Given the description of an element on the screen output the (x, y) to click on. 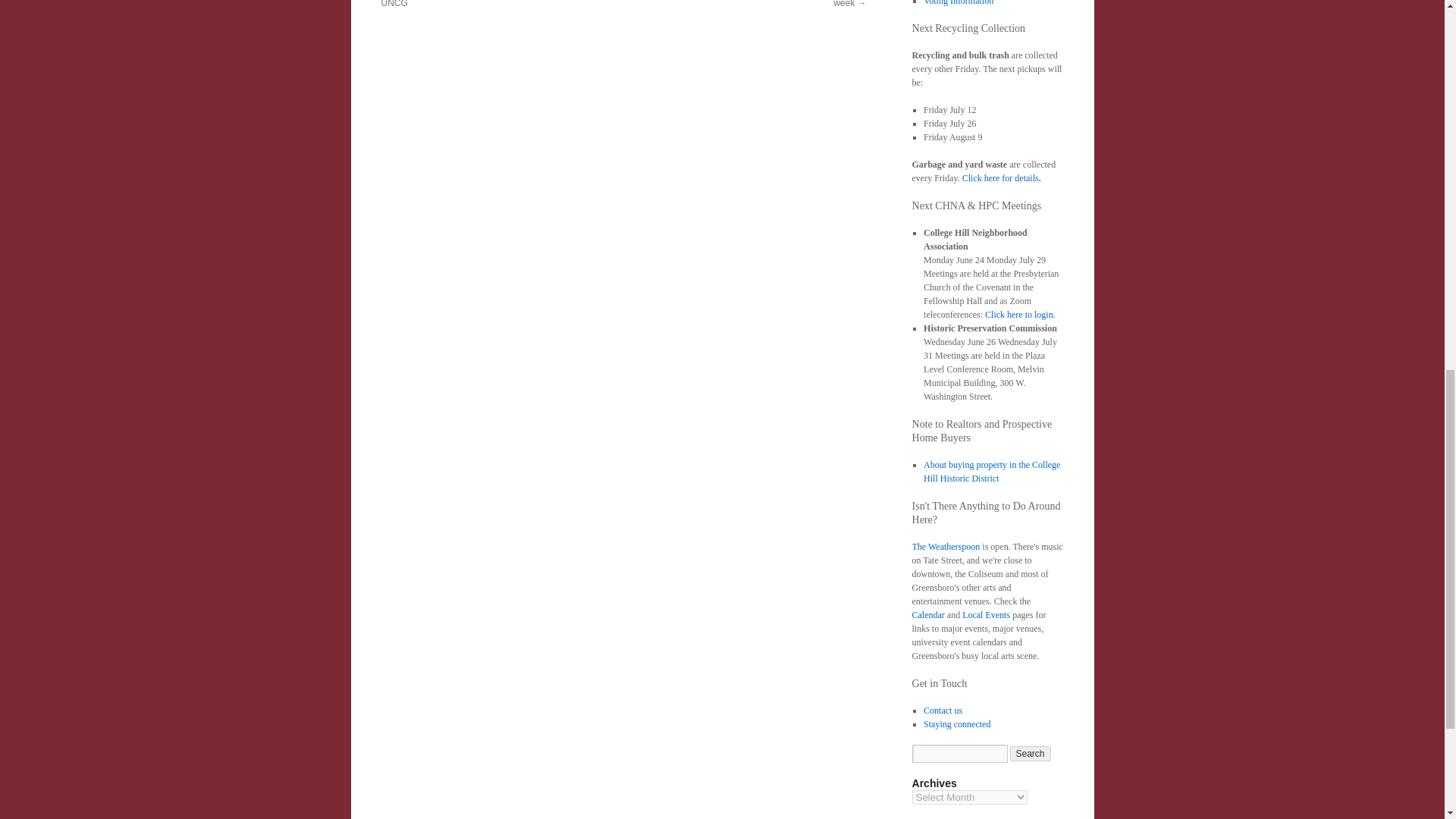
Search (1030, 753)
